Given the description of an element on the screen output the (x, y) to click on. 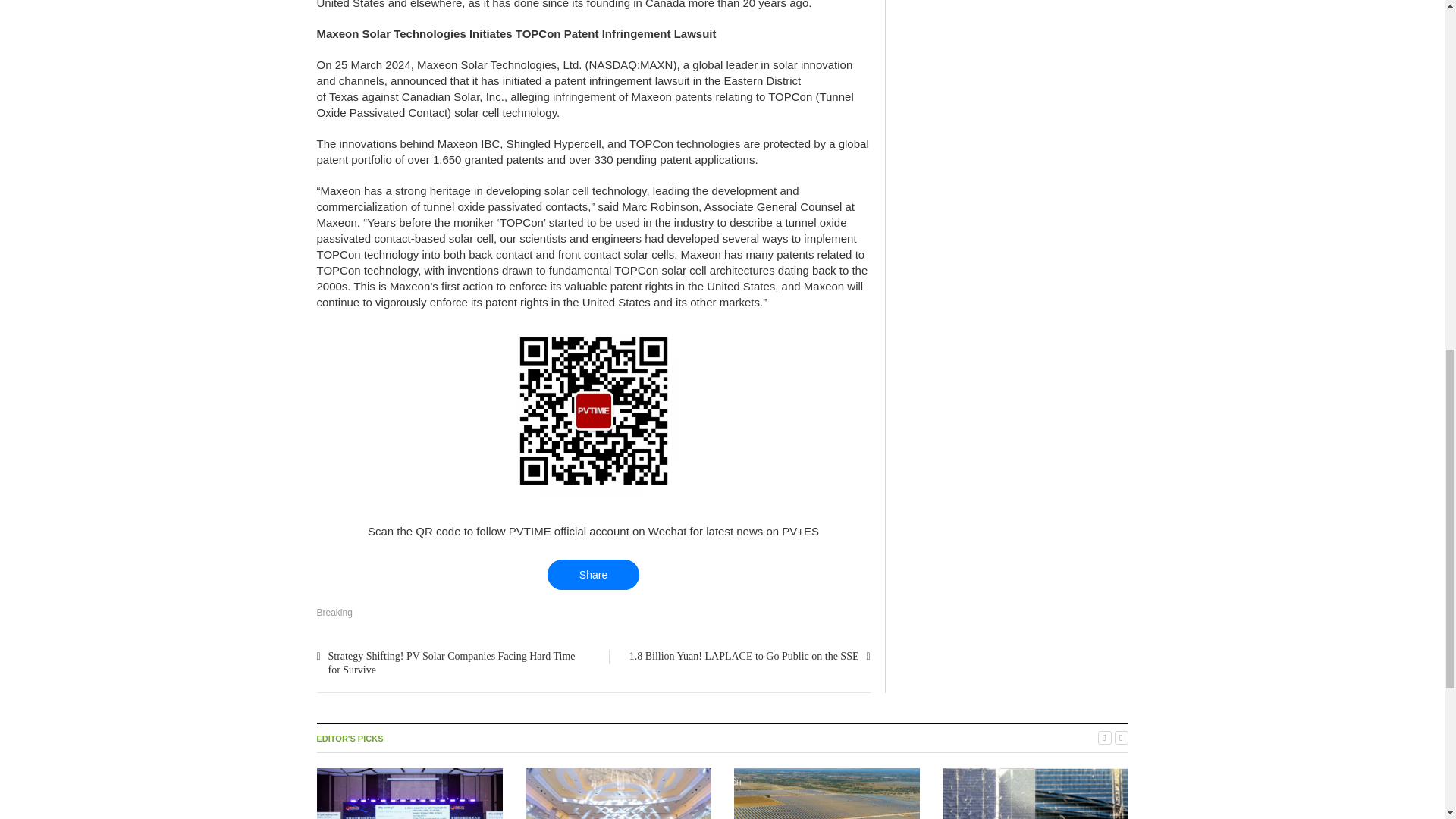
1.8 Billion Yuan! LAPLACE to Go Public on the SSE (743, 655)
Share (593, 574)
Breaking (334, 612)
